Given the description of an element on the screen output the (x, y) to click on. 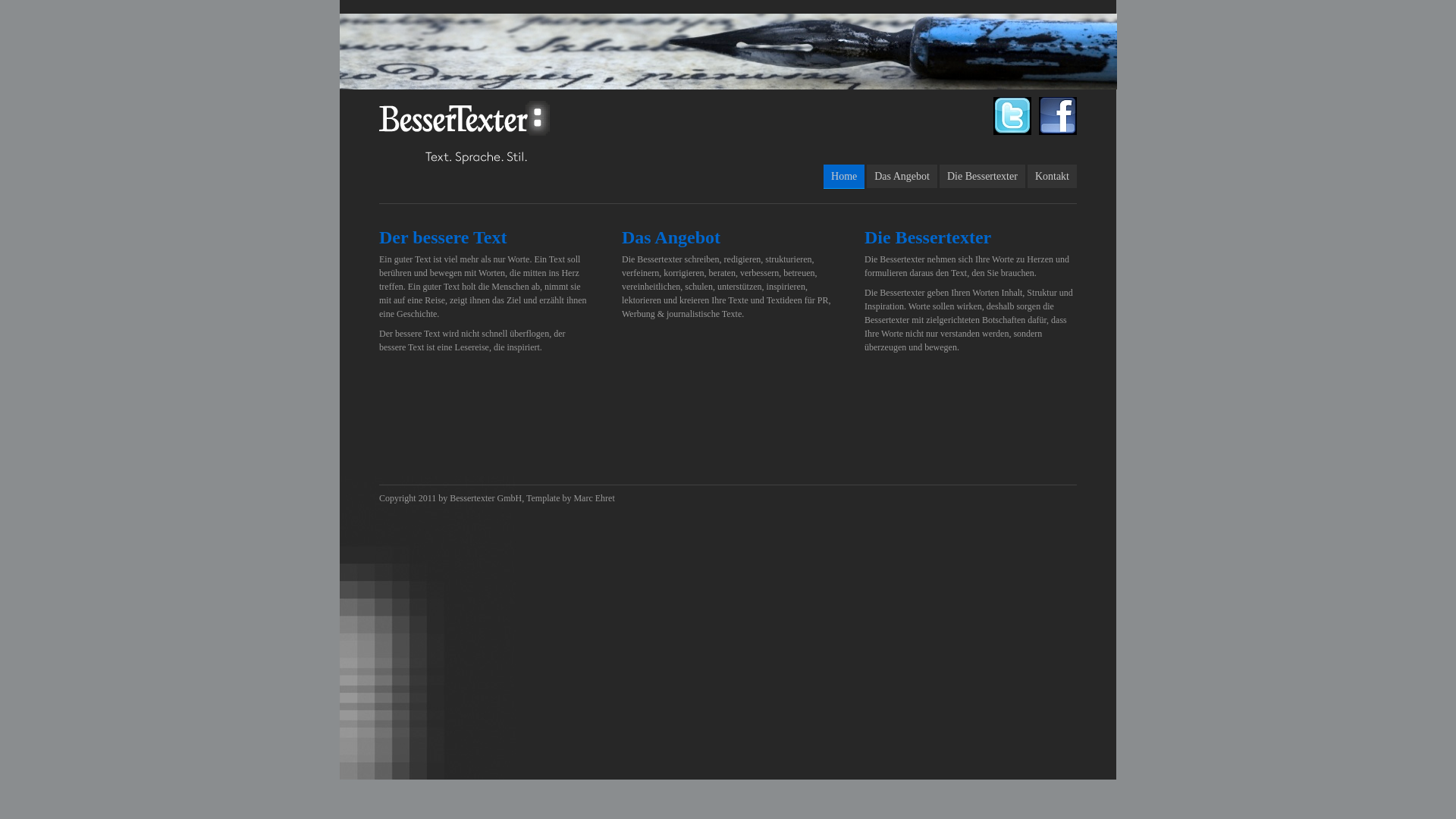
Kontakt Element type: text (1051, 176)
Der bessere Text Element type: text (442, 237)
Das Angebot Element type: text (901, 176)
Die Bessertexter Element type: text (982, 176)
Die Bessertexter Element type: text (927, 237)
Das Angebot Element type: text (670, 237)
Home Element type: text (843, 176)
